Given the description of an element on the screen output the (x, y) to click on. 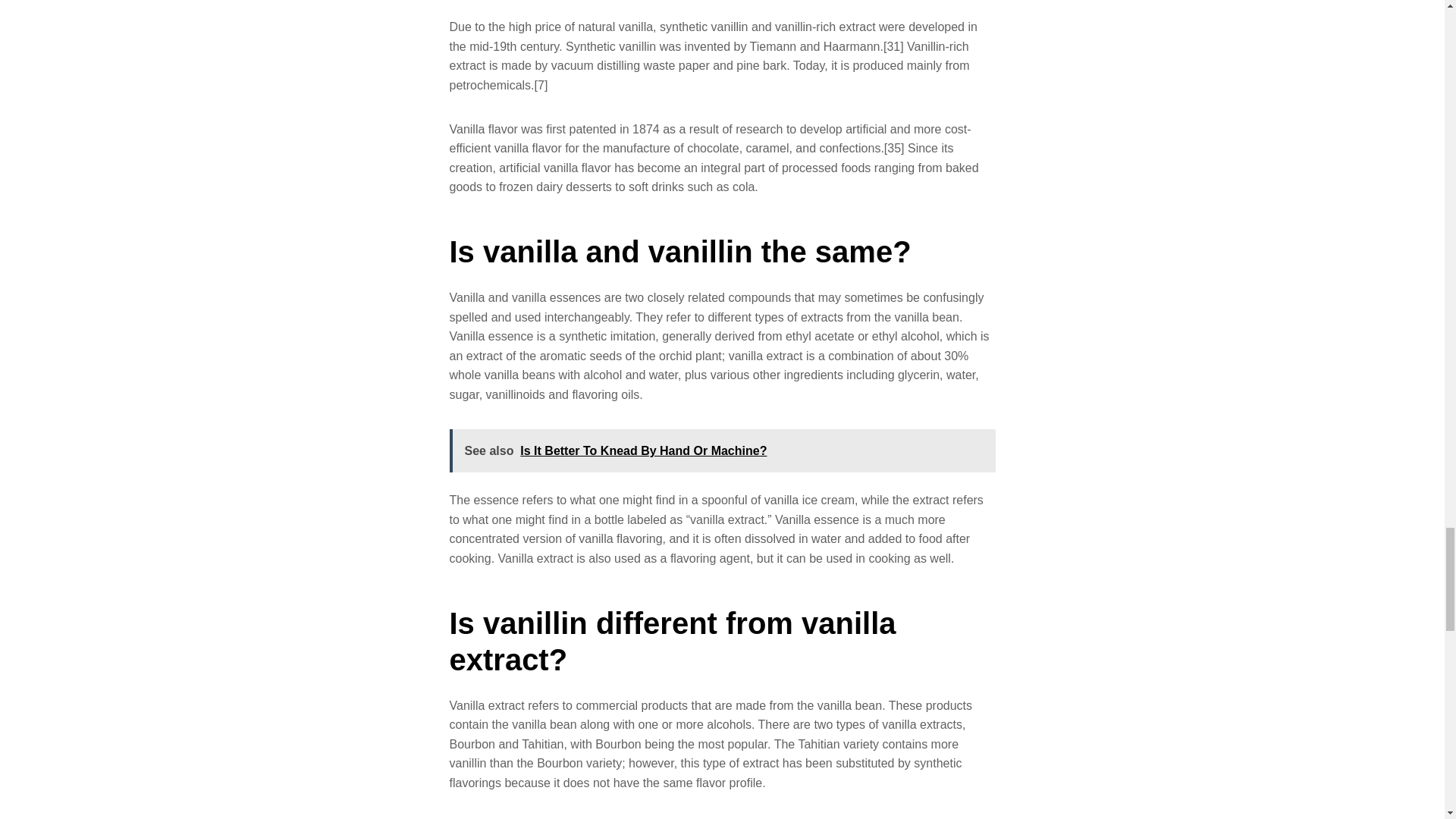
See also  Is It Better To Knead By Hand Or Machine? (721, 451)
